Given the description of an element on the screen output the (x, y) to click on. 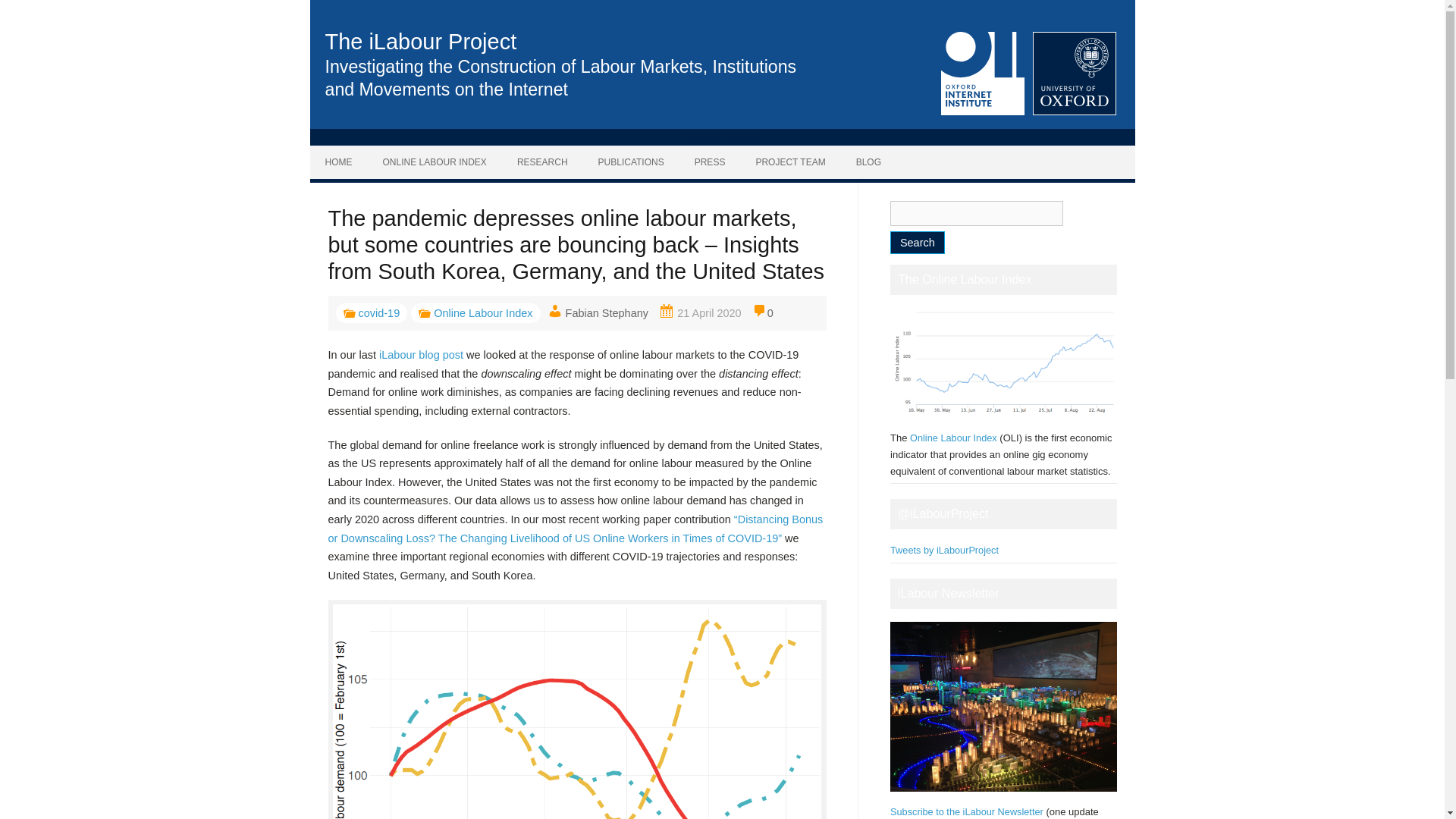
Tweets by iLabourProject (943, 550)
Online Labour Index (475, 312)
PUBLICATIONS (631, 162)
0 (762, 312)
Online Labour Index (953, 437)
The iLabour Project (420, 41)
Search (916, 241)
covid-19 (370, 312)
RESEARCH (542, 162)
Skip to content (721, 136)
Subscribe to the iLabour Newsletter (966, 811)
PRESS (710, 162)
Search (916, 241)
The iLabour Project (420, 41)
Skip to content (721, 136)
